Given the description of an element on the screen output the (x, y) to click on. 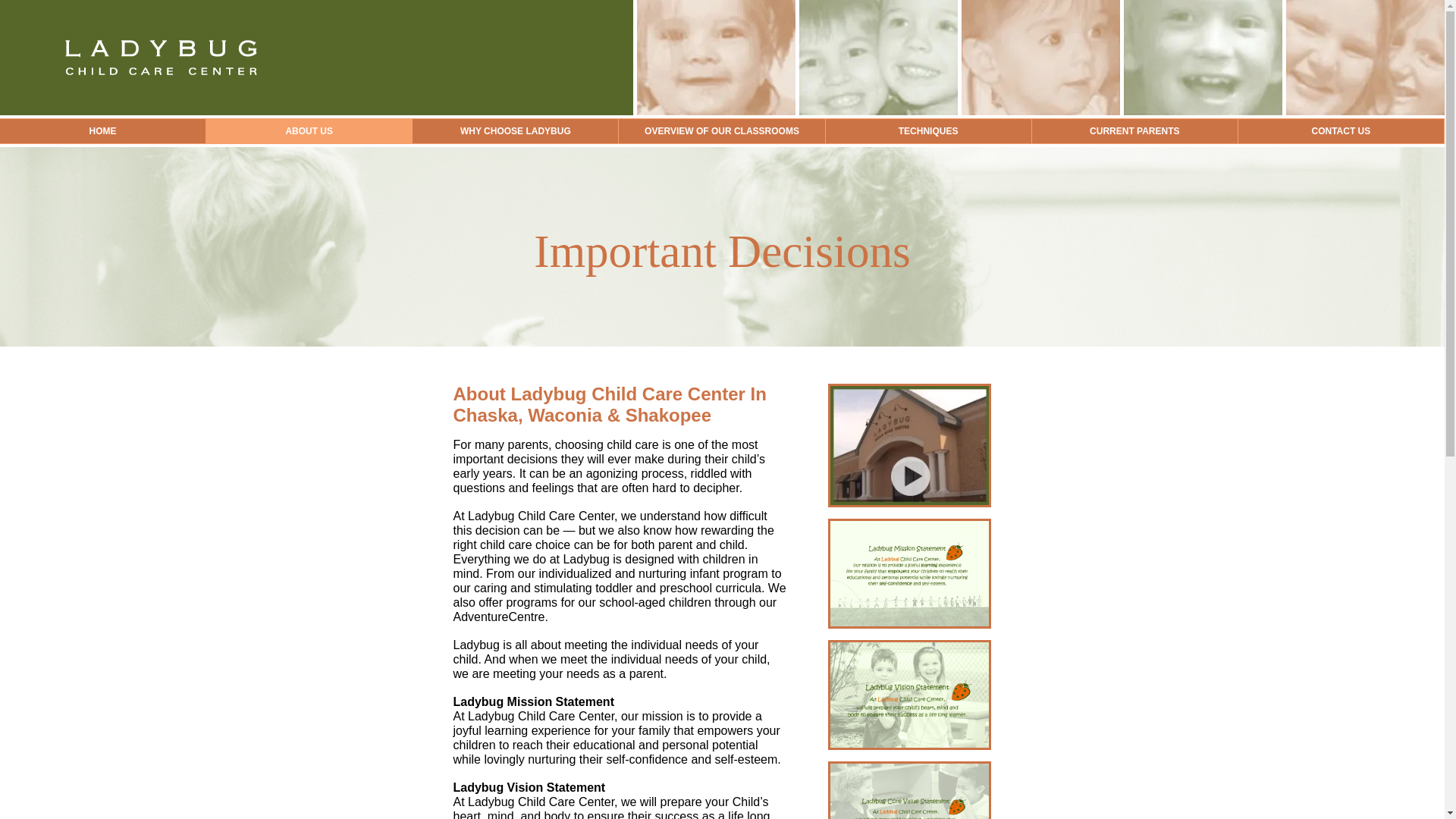
ABOUT US (309, 130)
WHY CHOOSE LADYBUG (514, 130)
OVERVIEW OF OUR CLASSROOMS (721, 130)
TECHNIQUES (927, 130)
HOME (102, 130)
